Given the description of an element on the screen output the (x, y) to click on. 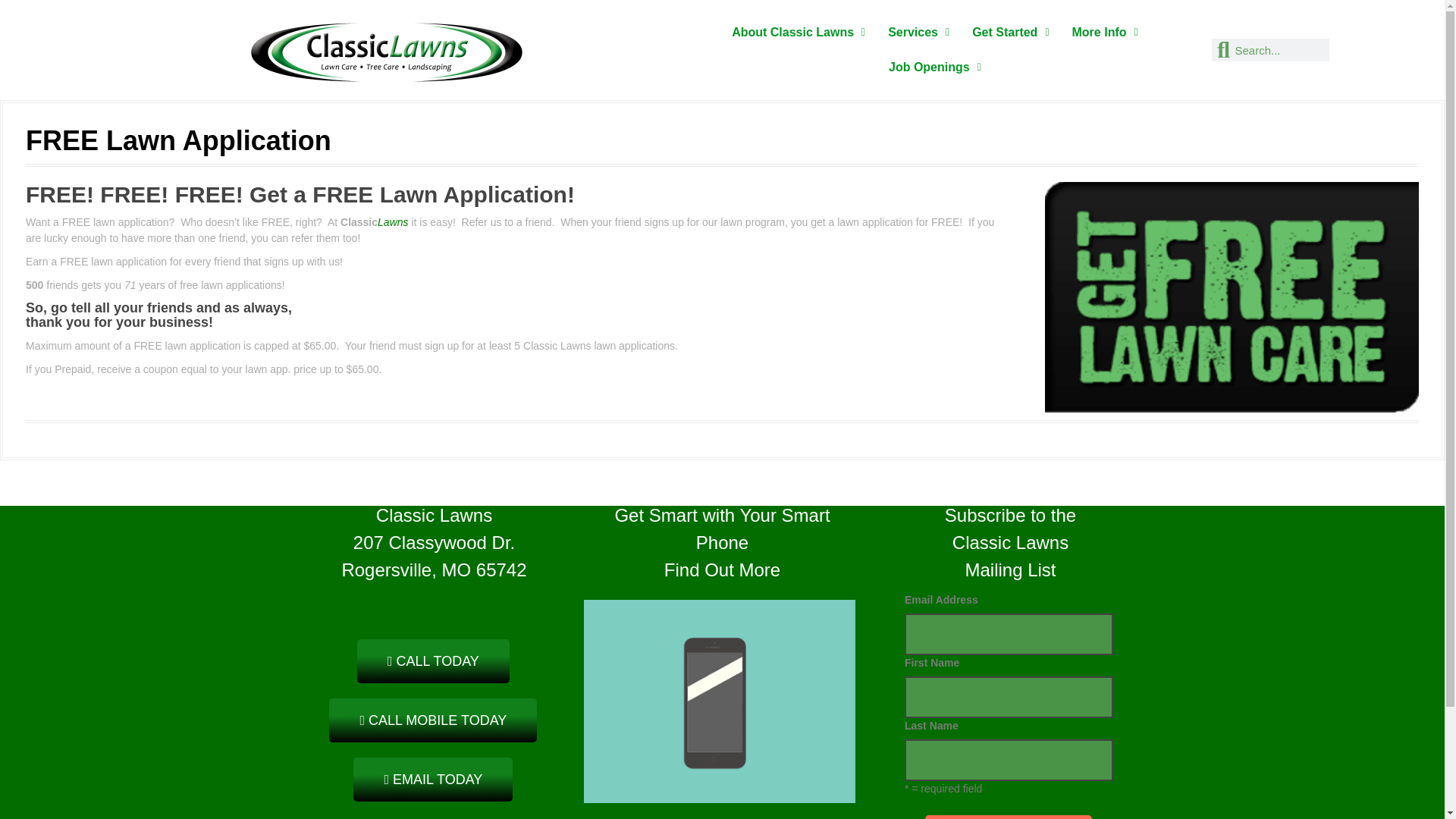
CALL MOBILE TODAY (433, 720)
More Info (1105, 32)
Subscribe (1008, 816)
EMAIL TODAY (432, 779)
Get Started (1009, 32)
CALL TODAY (432, 661)
Subscribe (1008, 816)
Job Openings (934, 67)
About Classic Lawns (798, 32)
Services (918, 32)
